Given the description of an element on the screen output the (x, y) to click on. 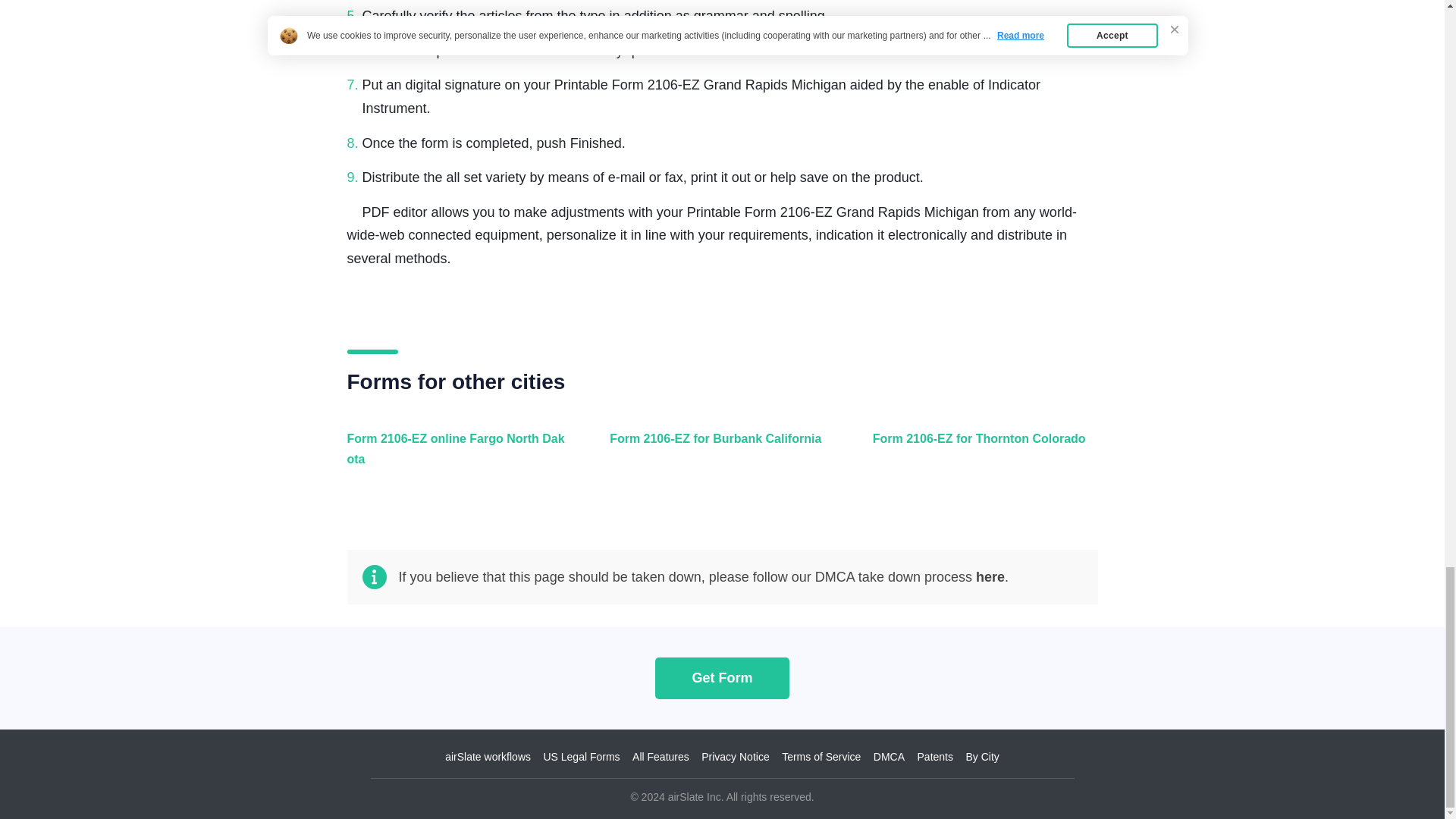
Terms of Service (820, 756)
By City (981, 756)
Form 2106-EZ online Fargo North Dakota (456, 456)
Get Form (722, 677)
Privacy Notice (734, 756)
Form 2106-EZ for Thornton Colorado (981, 456)
US Legal Forms (581, 756)
airSlate workflows (488, 756)
Patents (935, 756)
DMCA (888, 756)
